Given the description of an element on the screen output the (x, y) to click on. 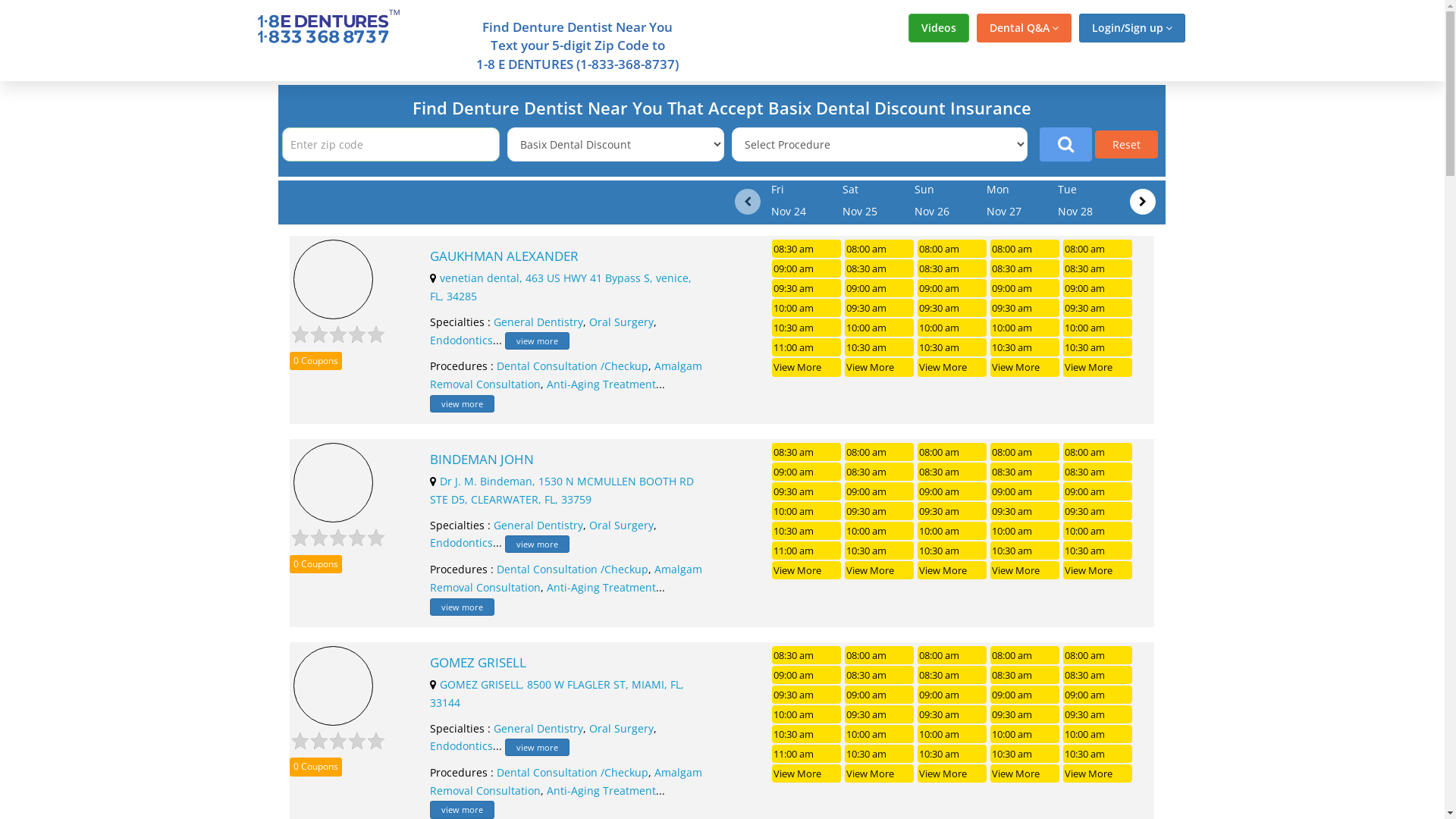
By state Element type: text (332, 798)
Q. Is denture care time consuming and expensive? Element type: text (721, 673)
Q. Who is best denture dentist near me? Element type: text (721, 333)
Videos Element type: text (938, 27)
Advertisement Element type: hover (129, 308)
By city Element type: text (561, 798)
Q. Where do I find same day dentures near me? Element type: text (721, 635)
Advertisement Element type: hover (1313, 308)
Q. Dental labs or Dentists, who does denture repair near me? Element type: text (721, 522)
By Specialties Element type: text (796, 798)
By zipcode Element type: text (449, 798)
By Procedures Element type: text (1090, 798)
Reset Element type: text (1126, 144)
Q. Do they have any flexible dentures? Element type: text (721, 598)
By Insurances Element type: text (941, 798)
Q. Can I get same day dentures done with in my budget? Element type: text (721, 484)
Q. Is there any affordable dentures near me in my city? Element type: text (721, 408)
Login/Sign up Element type: text (1131, 27)
Q. How much would dentures cost? Element type: text (721, 371)
Dental Q&A Element type: text (1023, 27)
Q. Where can I find cheap dentures near me? Element type: text (721, 295)
By name Element type: text (667, 798)
